Given the description of an element on the screen output the (x, y) to click on. 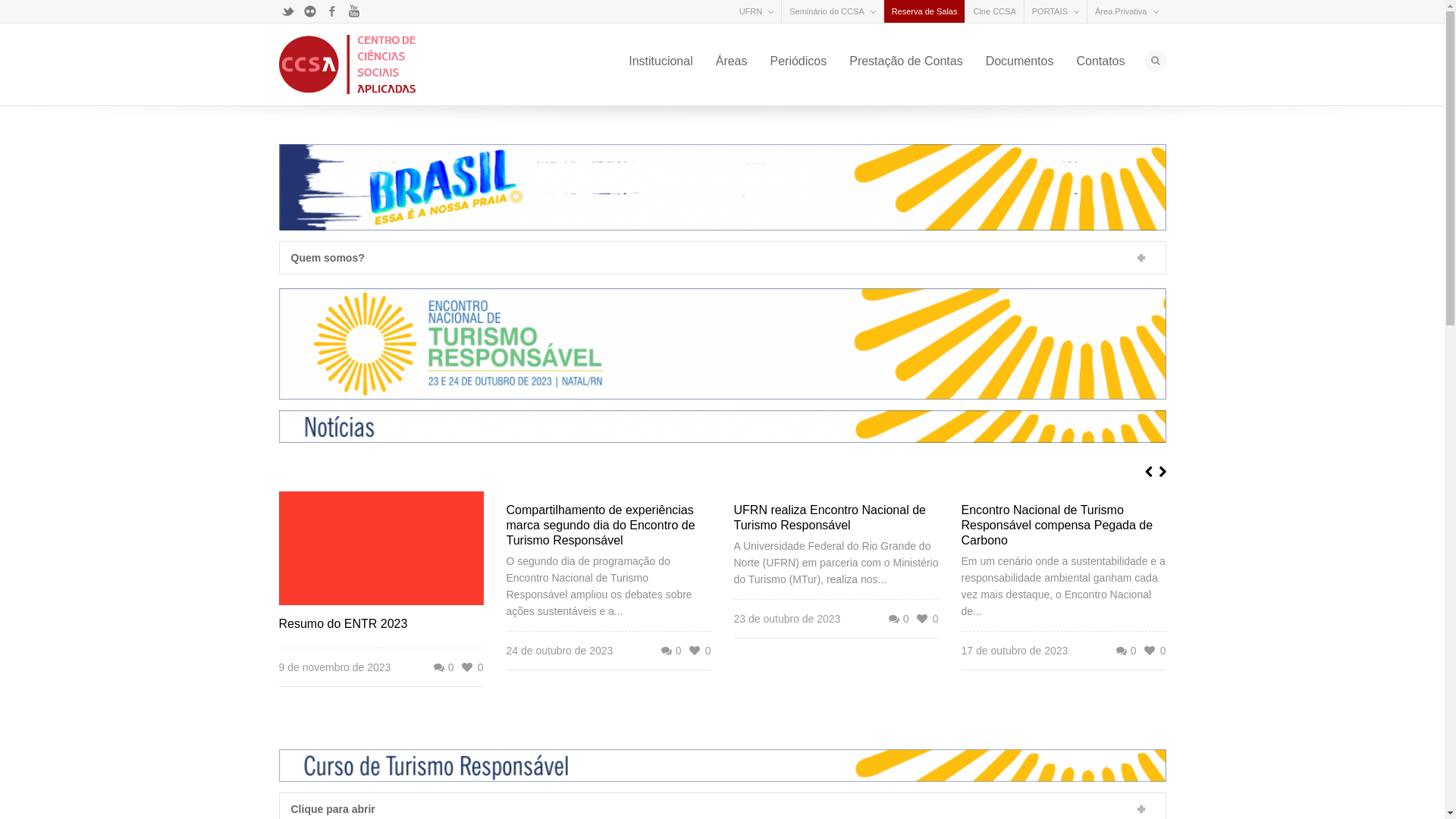
Contatos Element type: text (1100, 61)
Twitter Element type: text (288, 11)
Facebook Element type: text (332, 11)
Reserva de Salas Element type: text (924, 11)
UFRN Element type: text (750, 11)
Flickr Element type: text (309, 11)
0 Element type: text (442, 667)
PORTAIS Element type: text (1049, 11)
0 Element type: text (1124, 650)
0 Element type: text (897, 618)
Documentos Element type: text (1019, 61)
Cine CCSA Element type: text (993, 11)
Institucional Element type: text (660, 61)
0 Element type: text (669, 650)
YouTube Element type: text (353, 11)
Resumo do ENTR 2023 Element type: text (343, 623)
